Given the description of an element on the screen output the (x, y) to click on. 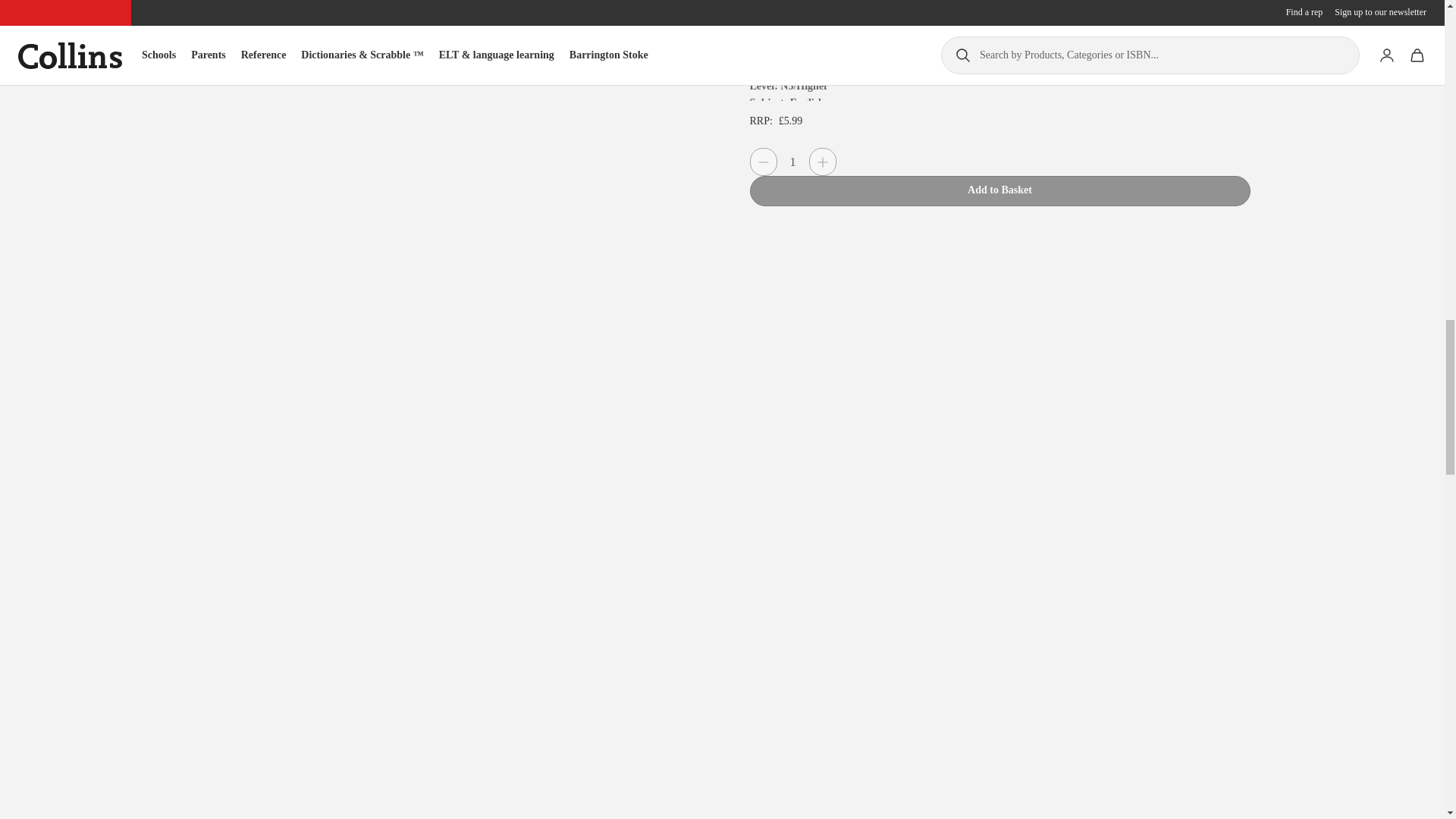
Add to Basket (999, 191)
1 (791, 161)
Decrease quantity (762, 161)
Increase quantity (821, 161)
